Given the description of an element on the screen output the (x, y) to click on. 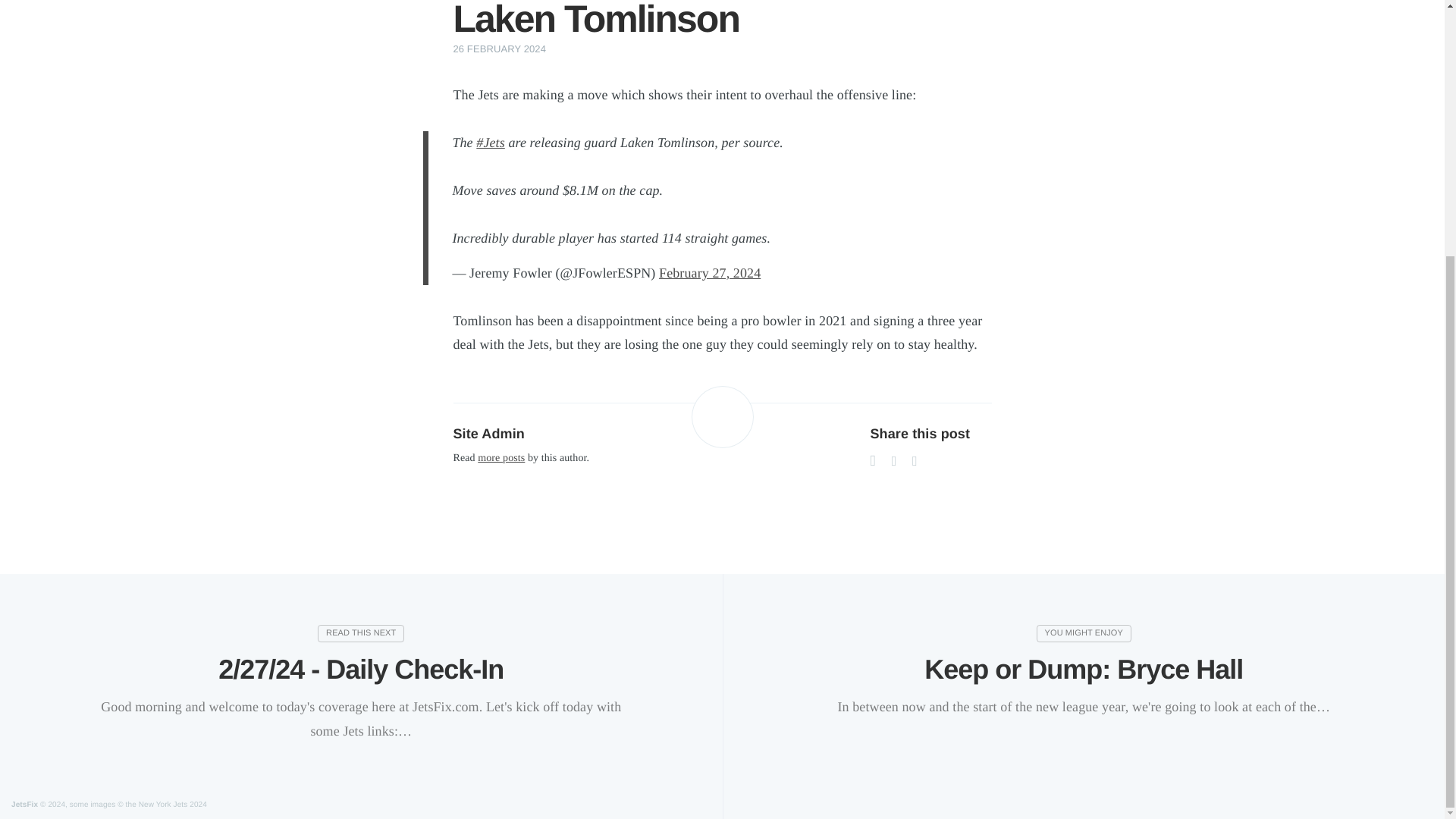
more posts (500, 458)
Site Admin (488, 433)
February 27, 2024 (709, 272)
JetsFix (24, 804)
